Given the description of an element on the screen output the (x, y) to click on. 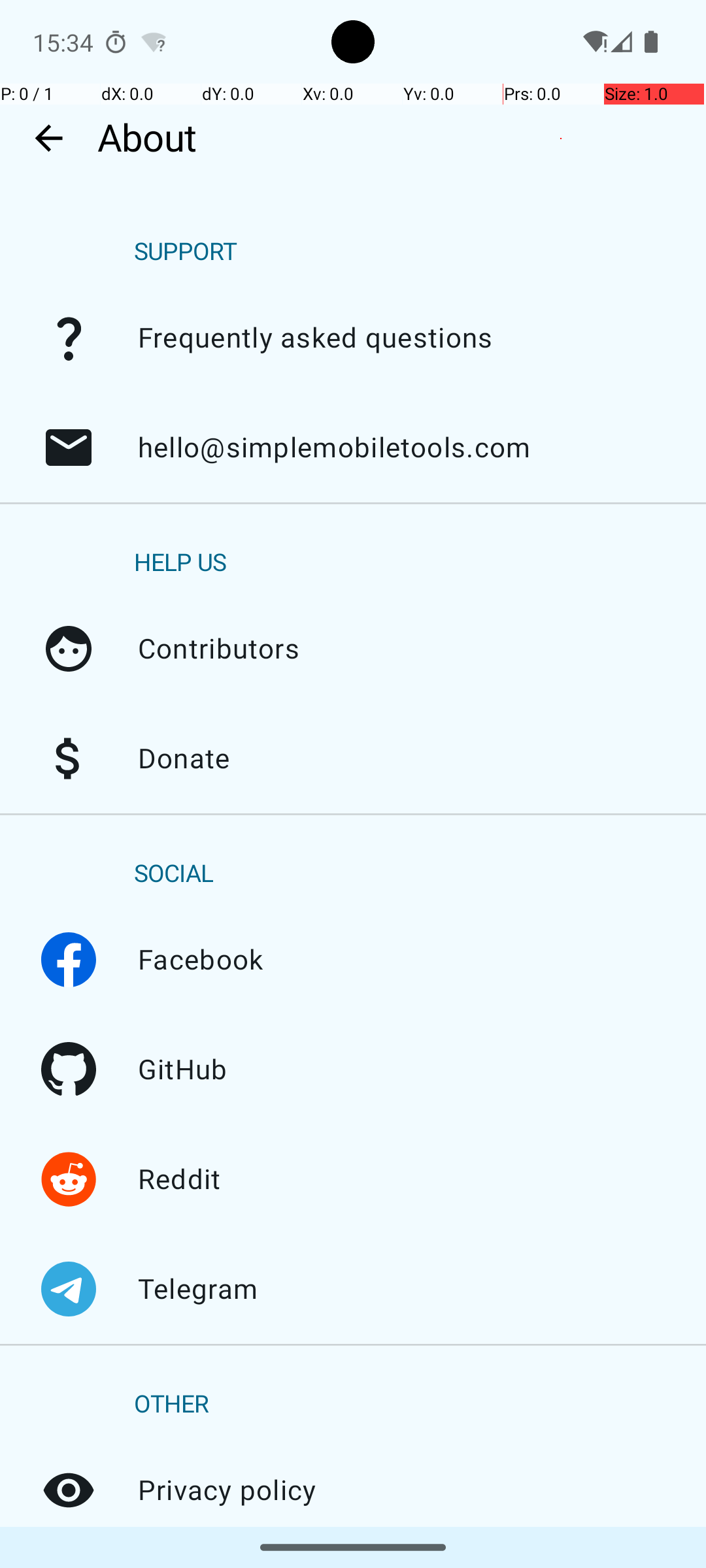
SUPPORT Element type: android.widget.TextView (185, 251)
HELP US Element type: android.widget.TextView (180, 562)
SOCIAL Element type: android.widget.TextView (173, 873)
OTHER Element type: android.widget.TextView (171, 1404)
Frequently asked questions Element type: android.view.View (68, 337)
hello@simplemobiletools.com Element type: android.view.View (68, 447)
Donate Element type: android.view.View (68, 758)
Facebook Element type: android.view.View (68, 959)
GitHub Element type: android.view.View (68, 1069)
Reddit Element type: android.view.View (68, 1178)
Telegram Element type: android.view.View (68, 1288)
Privacy policy Element type: android.view.View (68, 1489)
